Given the description of an element on the screen output the (x, y) to click on. 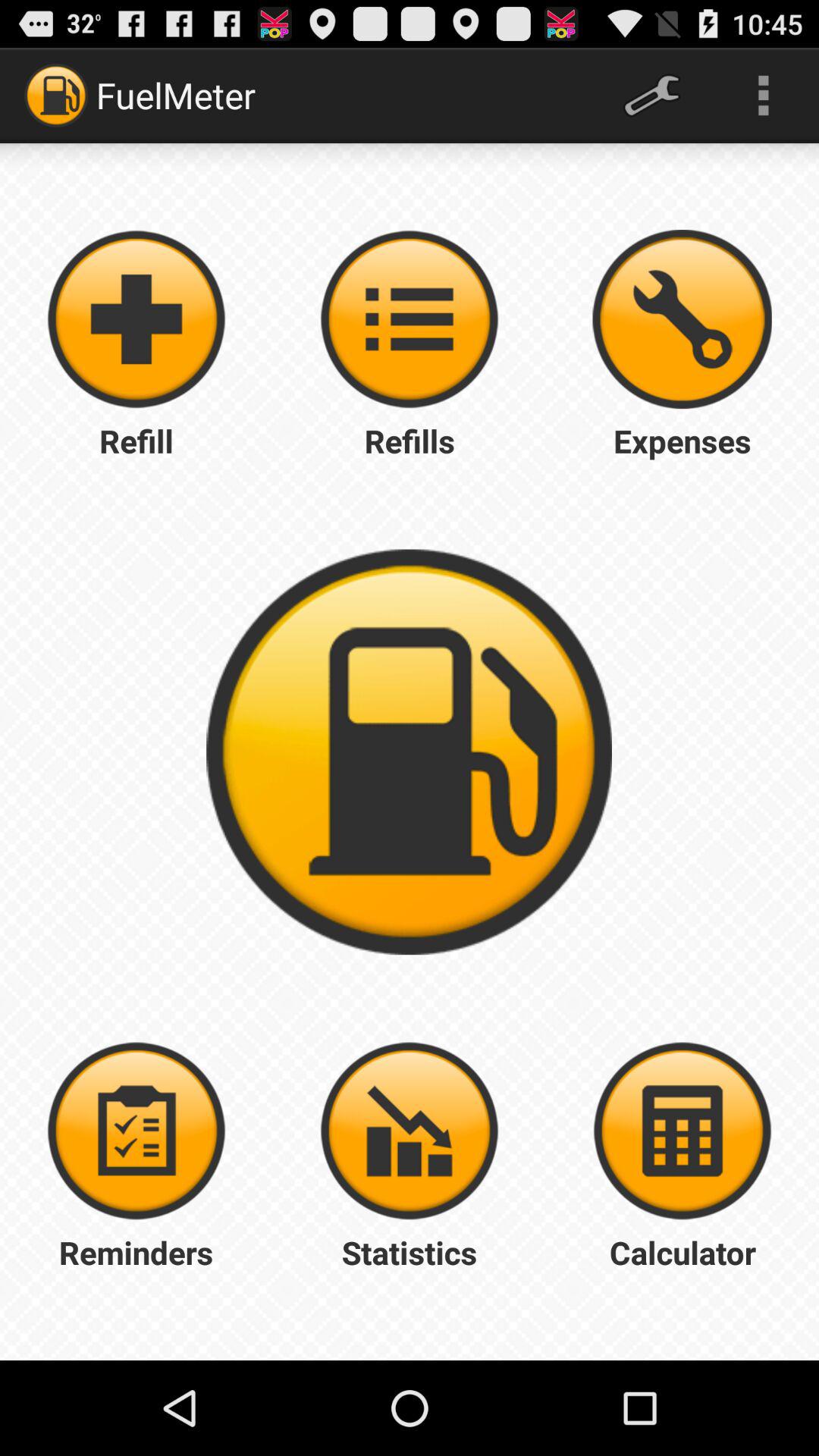
refill budget app (409, 318)
